Given the description of an element on the screen output the (x, y) to click on. 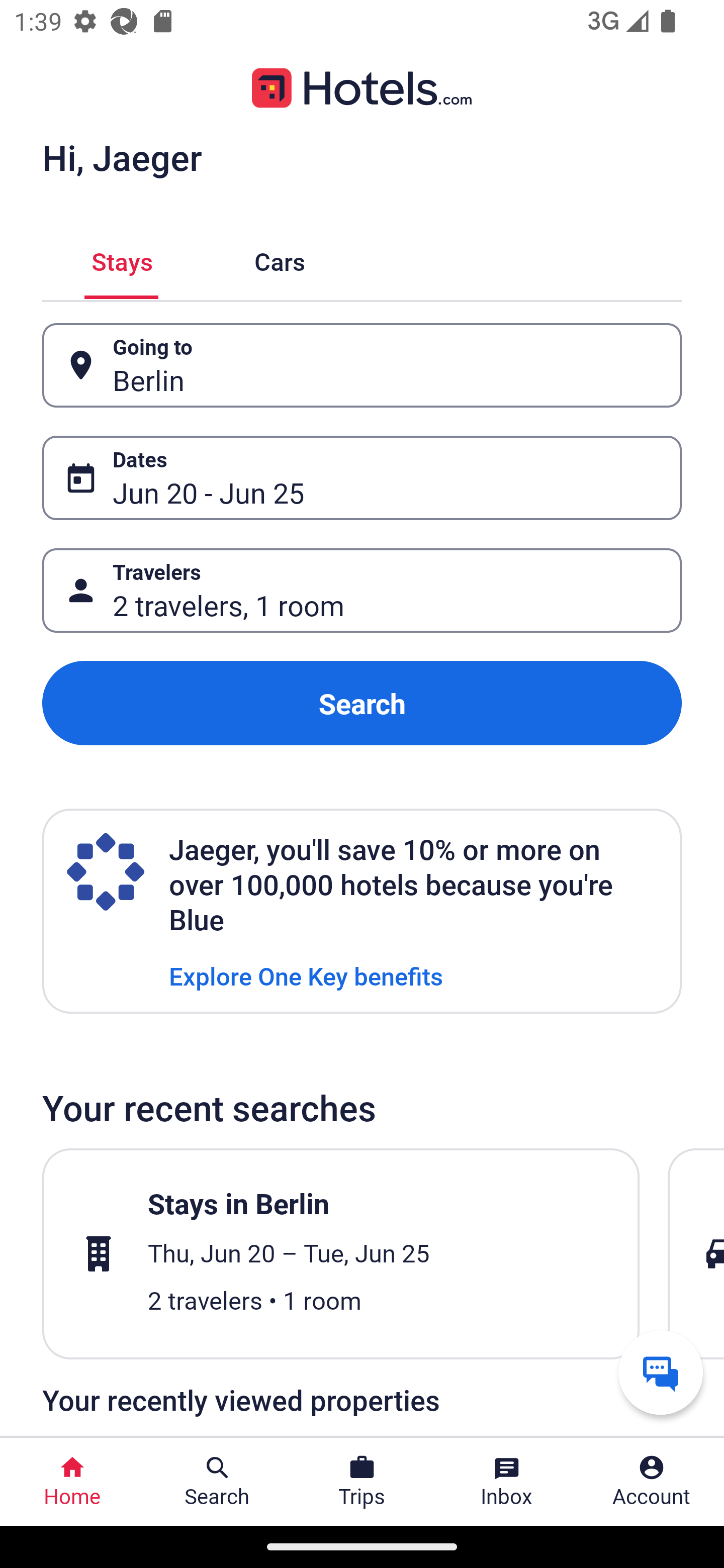
Hi, Jaeger (121, 156)
Cars (279, 259)
Going to Button Berlin (361, 365)
Dates Button Jun 20 - Jun 25 (361, 477)
Travelers Button 2 travelers, 1 room (361, 590)
Search (361, 702)
Get help from a virtual agent (660, 1371)
Search Search Button (216, 1481)
Trips Trips Button (361, 1481)
Inbox Inbox Button (506, 1481)
Account Profile. Button (651, 1481)
